Given the description of an element on the screen output the (x, y) to click on. 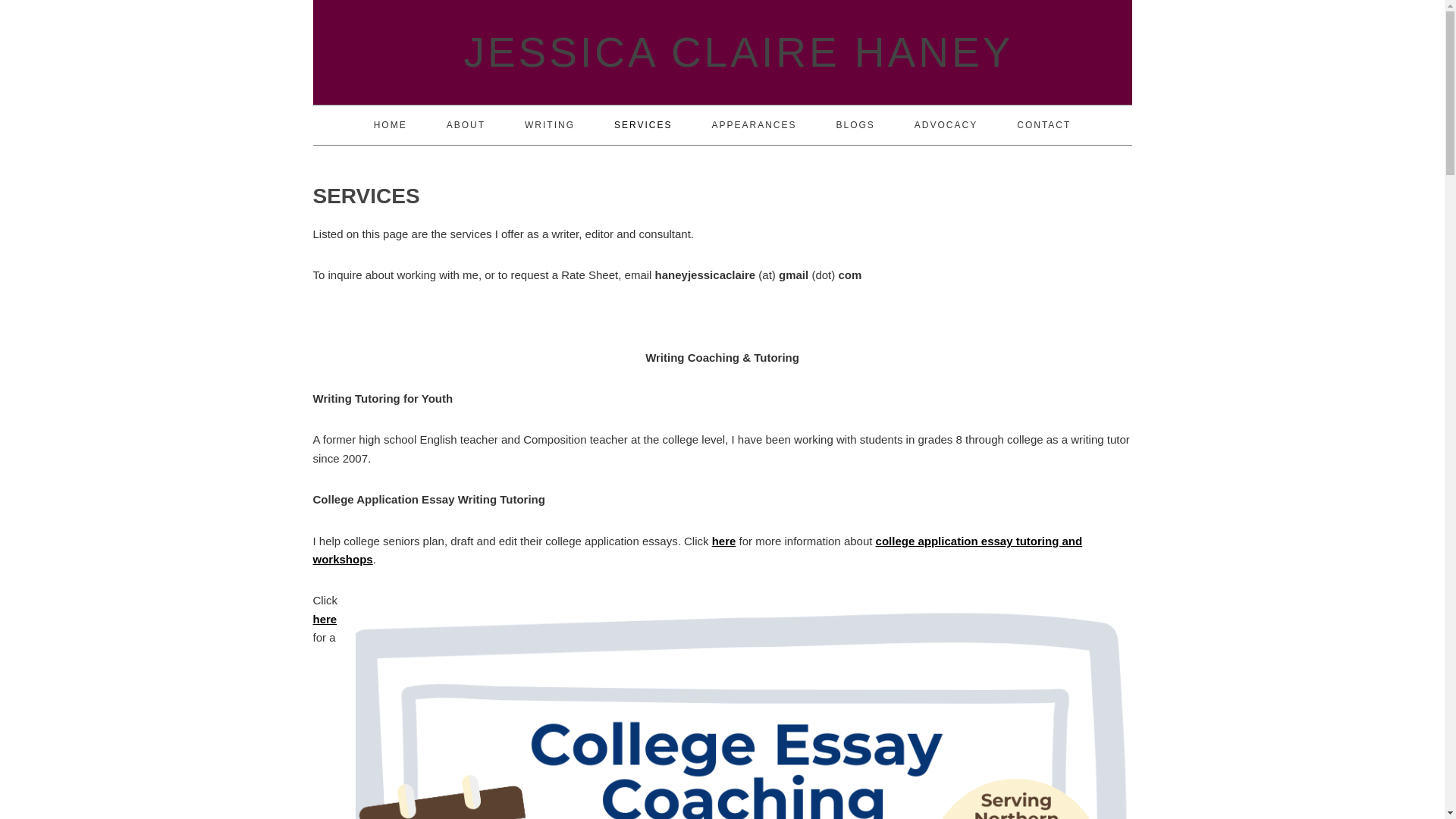
college application essay tutoring and workshops (697, 549)
ABOUT (465, 124)
ADVOCACY (945, 124)
here (324, 618)
HOME (390, 124)
CONTACT (1043, 124)
SERVICES (642, 124)
BLOGS (854, 124)
JESSICA CLAIRE HANEY (729, 52)
